Given the description of an element on the screen output the (x, y) to click on. 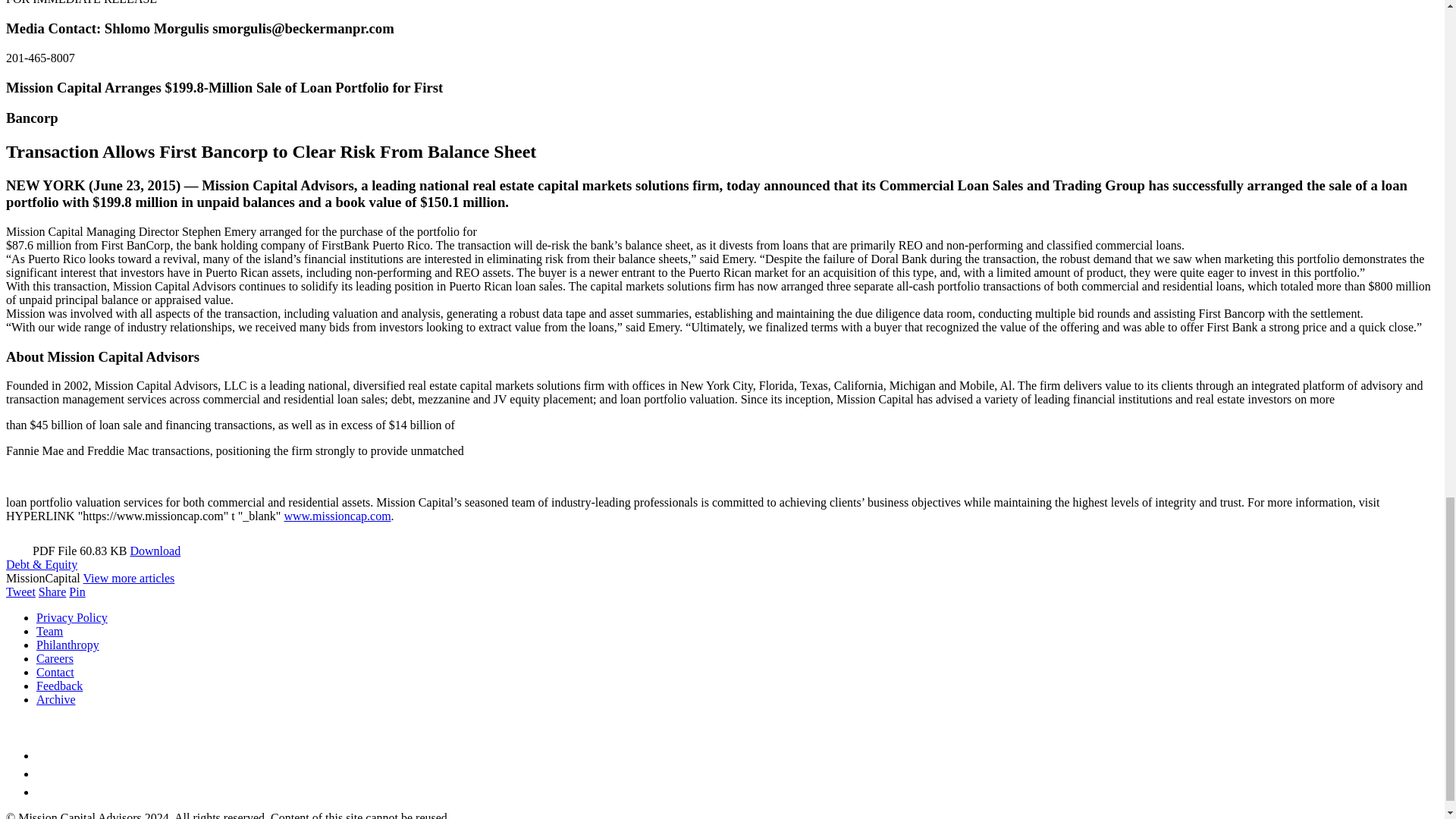
p.com (376, 515)
Follow Mission Capital on Twitter (43, 755)
Follow Mission Capital on Instagram (43, 791)
View more articles (128, 577)
www.missionca (322, 515)
Download (154, 550)
Connect with Mission Capital on LinkedIn (43, 773)
